Given the description of an element on the screen output the (x, y) to click on. 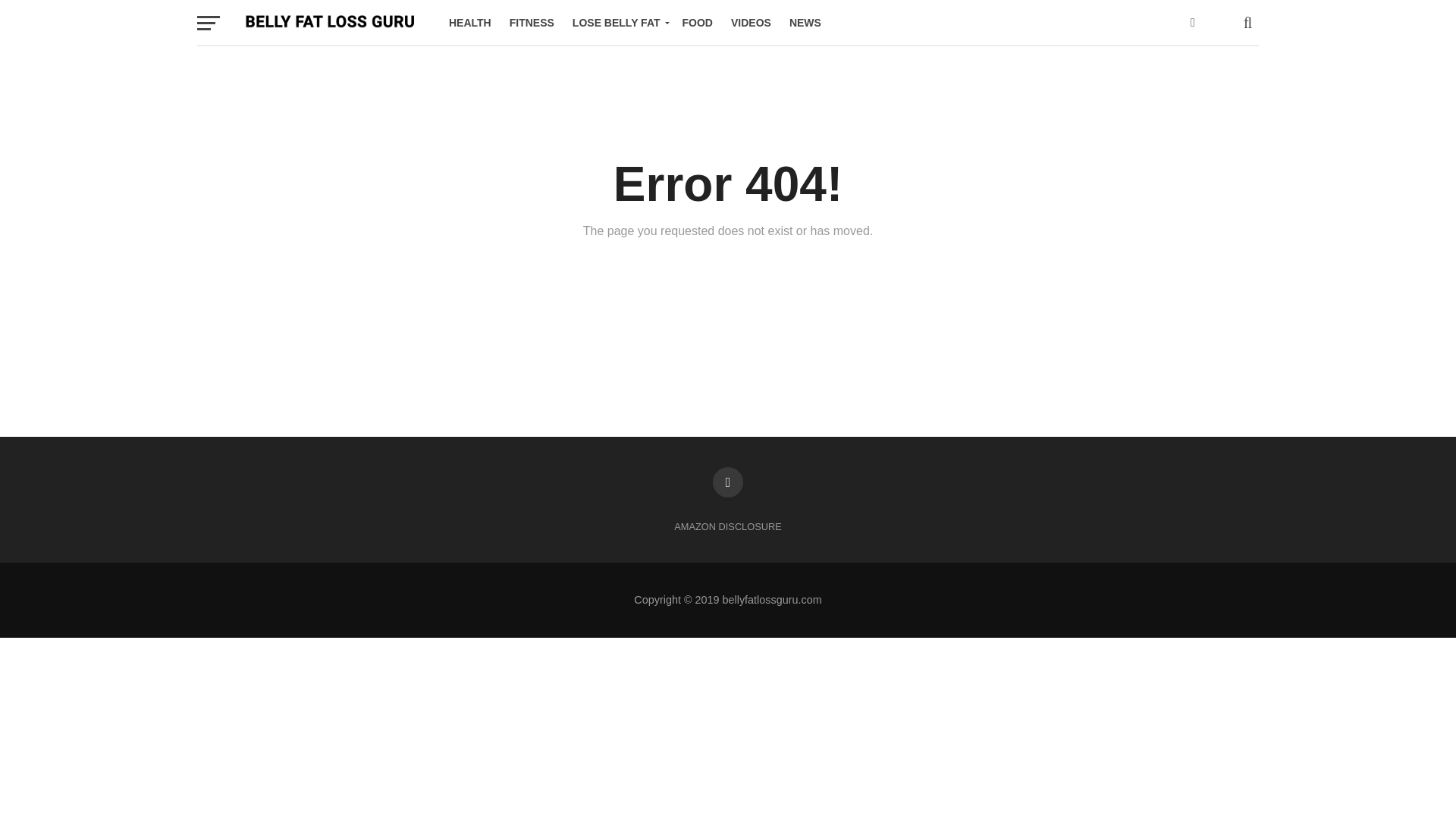
NEWS (804, 22)
FOOD (697, 22)
VIDEOS (751, 22)
HEALTH (469, 22)
LOSE BELLY FAT (617, 22)
AMAZON DISCLOSURE (727, 526)
FITNESS (531, 22)
